Given the description of an element on the screen output the (x, y) to click on. 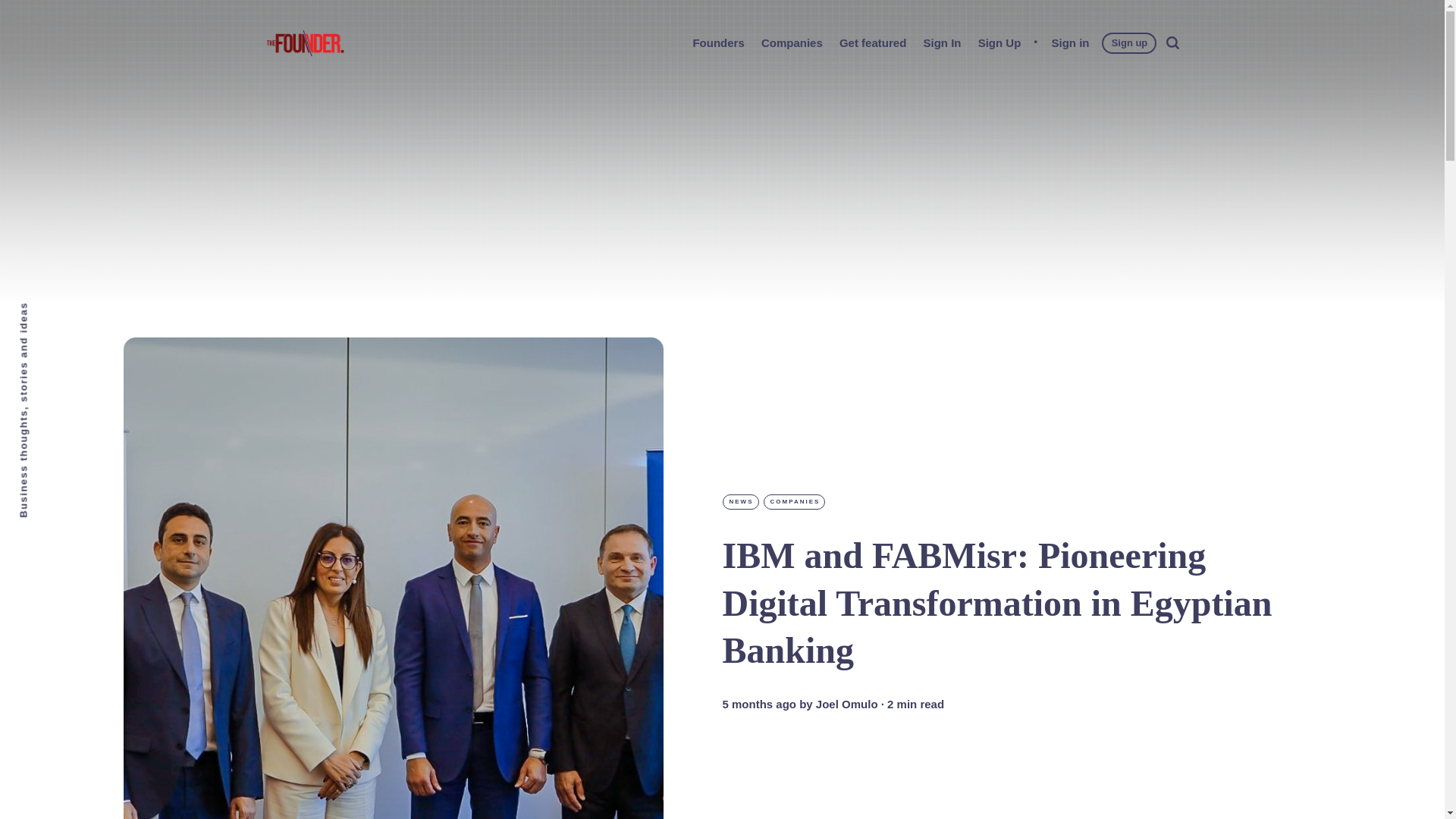
Sign up (1129, 42)
Sign In (941, 42)
COMPANIES (793, 501)
Companies (792, 42)
Founders (717, 42)
Joel Omulo (846, 703)
Get featured (872, 42)
Sign Up (999, 42)
Sign in (1069, 42)
NEWS (740, 501)
